Given the description of an element on the screen output the (x, y) to click on. 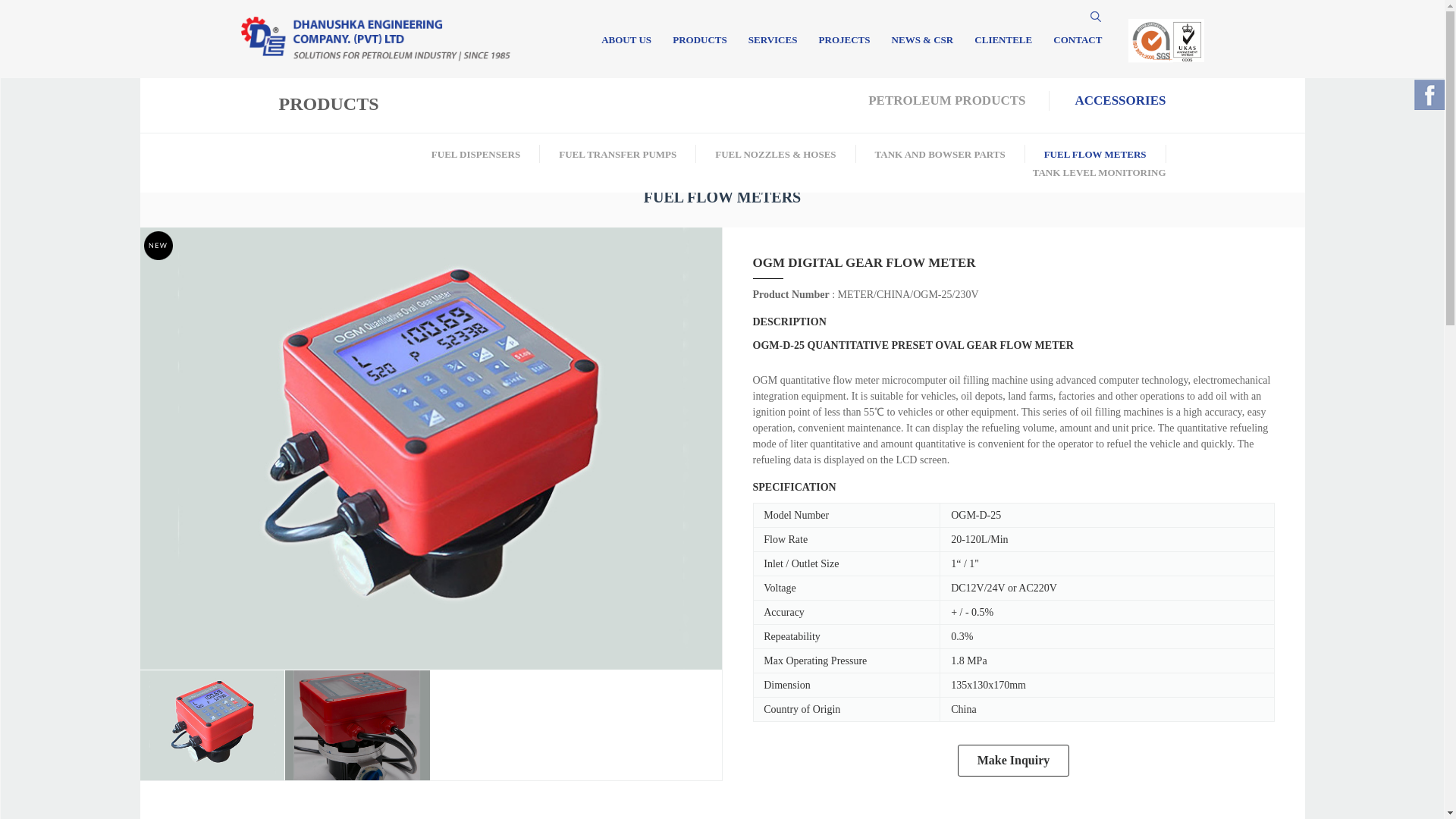
TANK AND BOWSER PARTS (940, 153)
Make Inquiry (1014, 760)
TANK LEVEL MONITORING (1099, 172)
FUEL TRANSFER PUMPS (618, 153)
PRODUCTS (699, 44)
SERVICES (772, 44)
FUEL DISPENSERS (474, 153)
FUEL FLOW METERS (1095, 153)
ACCESSORIES (1120, 100)
